Given the description of an element on the screen output the (x, y) to click on. 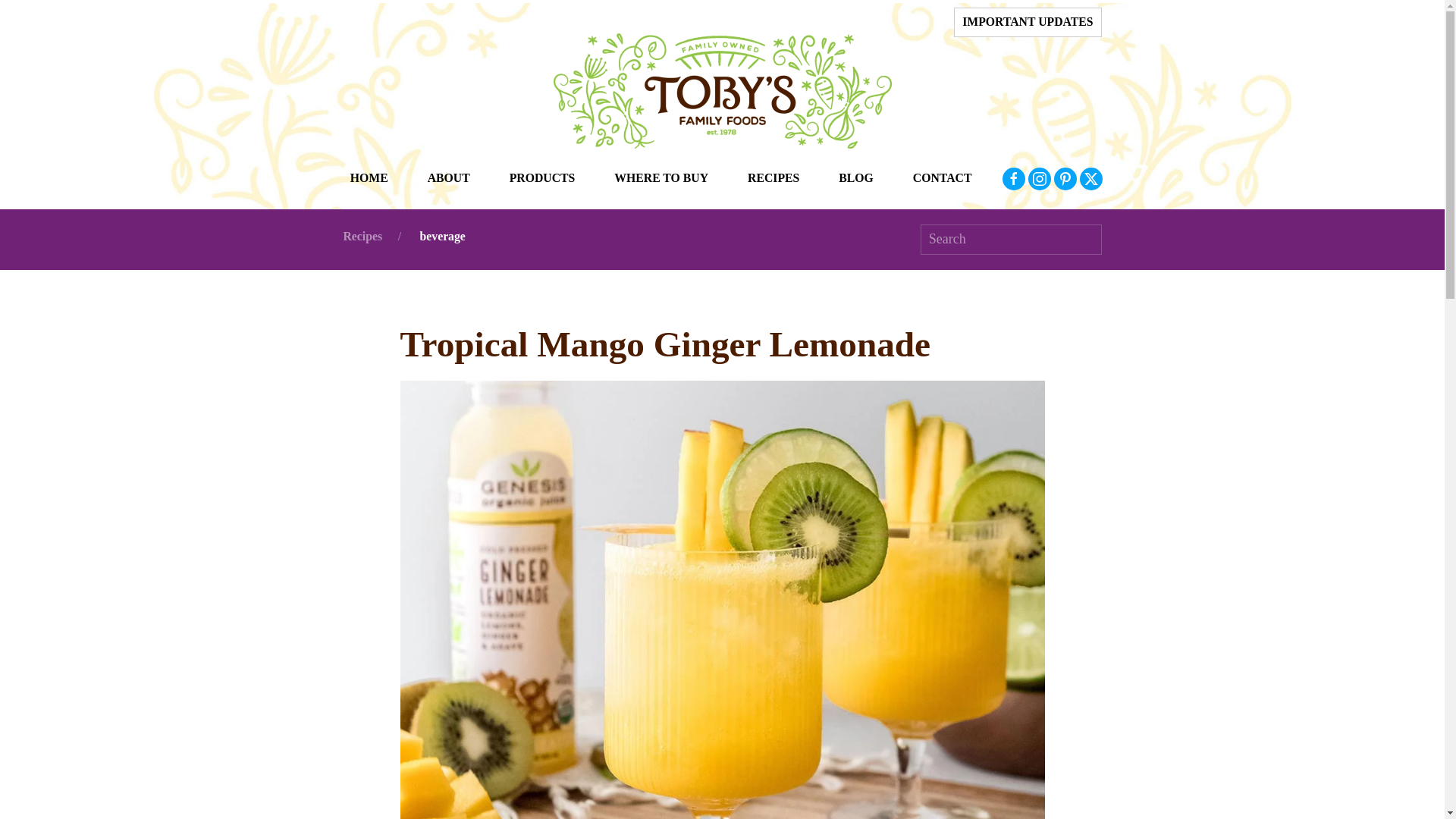
ABOUT (449, 178)
IMPORTANT UPDATES (1027, 22)
PRODUCTS (541, 178)
HOME (369, 178)
